Given the description of an element on the screen output the (x, y) to click on. 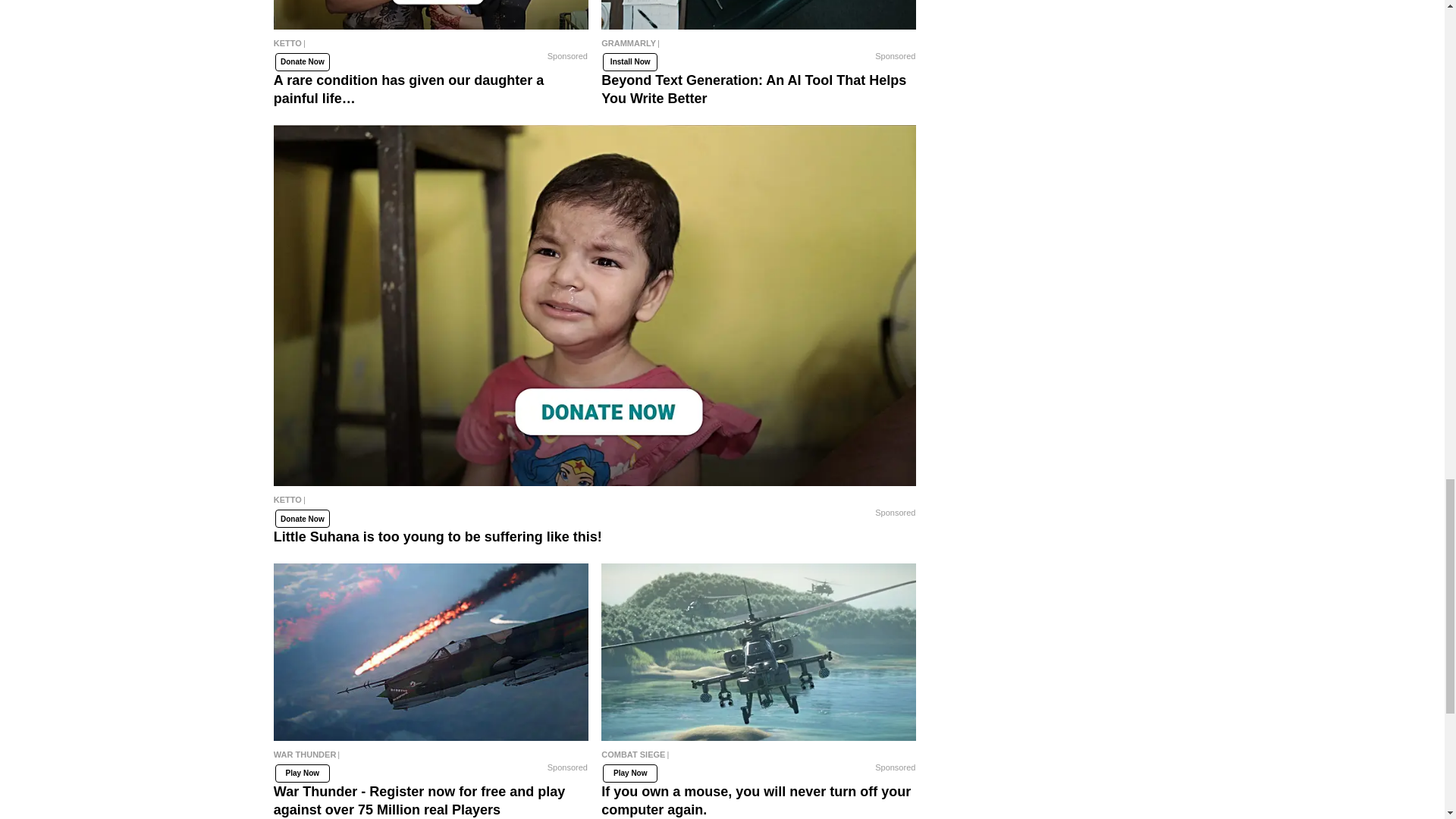
Sponsored (567, 56)
Little Suhana is too young to be suffering like this! (595, 502)
